Given the description of an element on the screen output the (x, y) to click on. 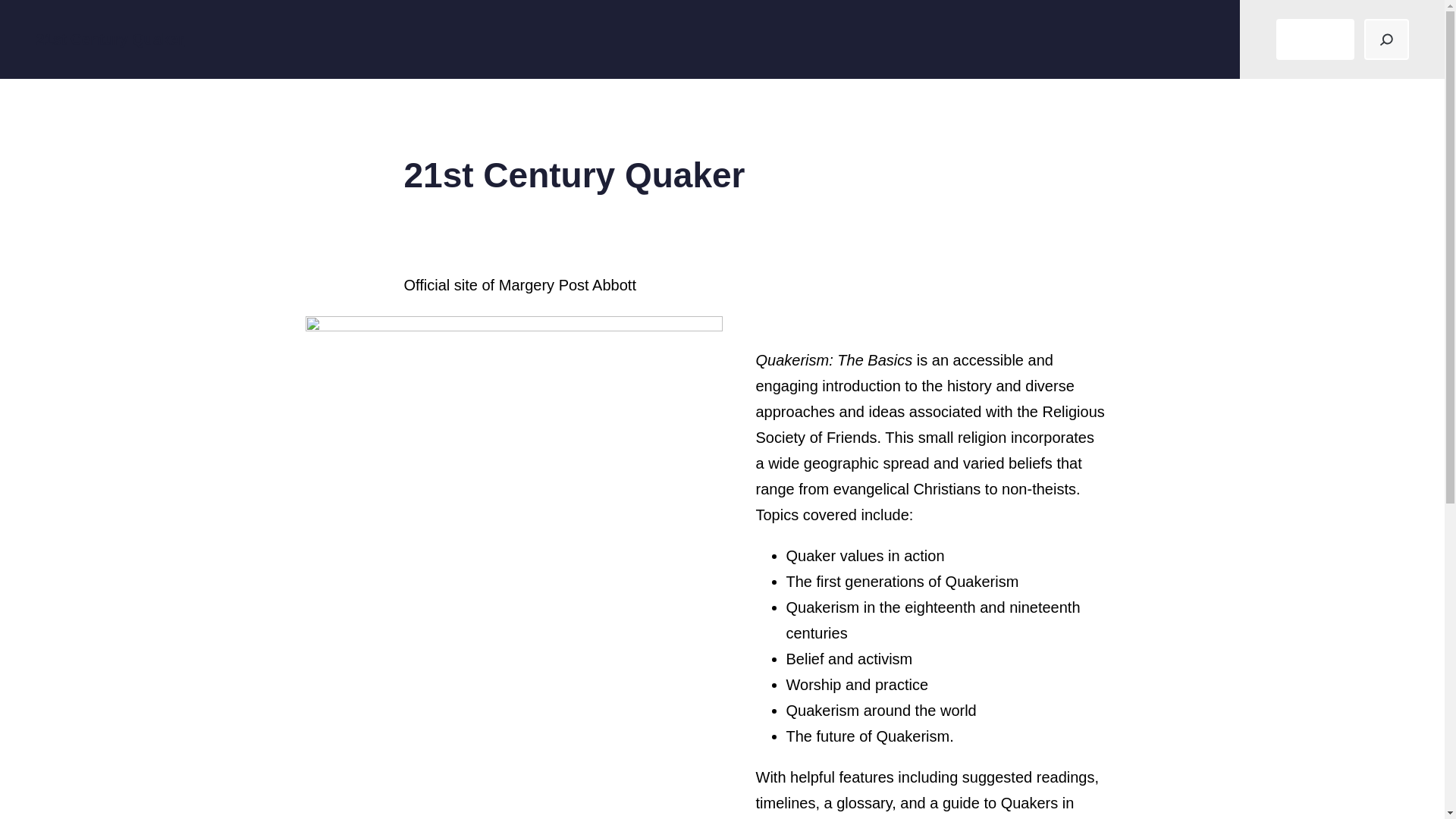
21st Century Quaker Element type: text (110, 39)
